Given the description of an element on the screen output the (x, y) to click on. 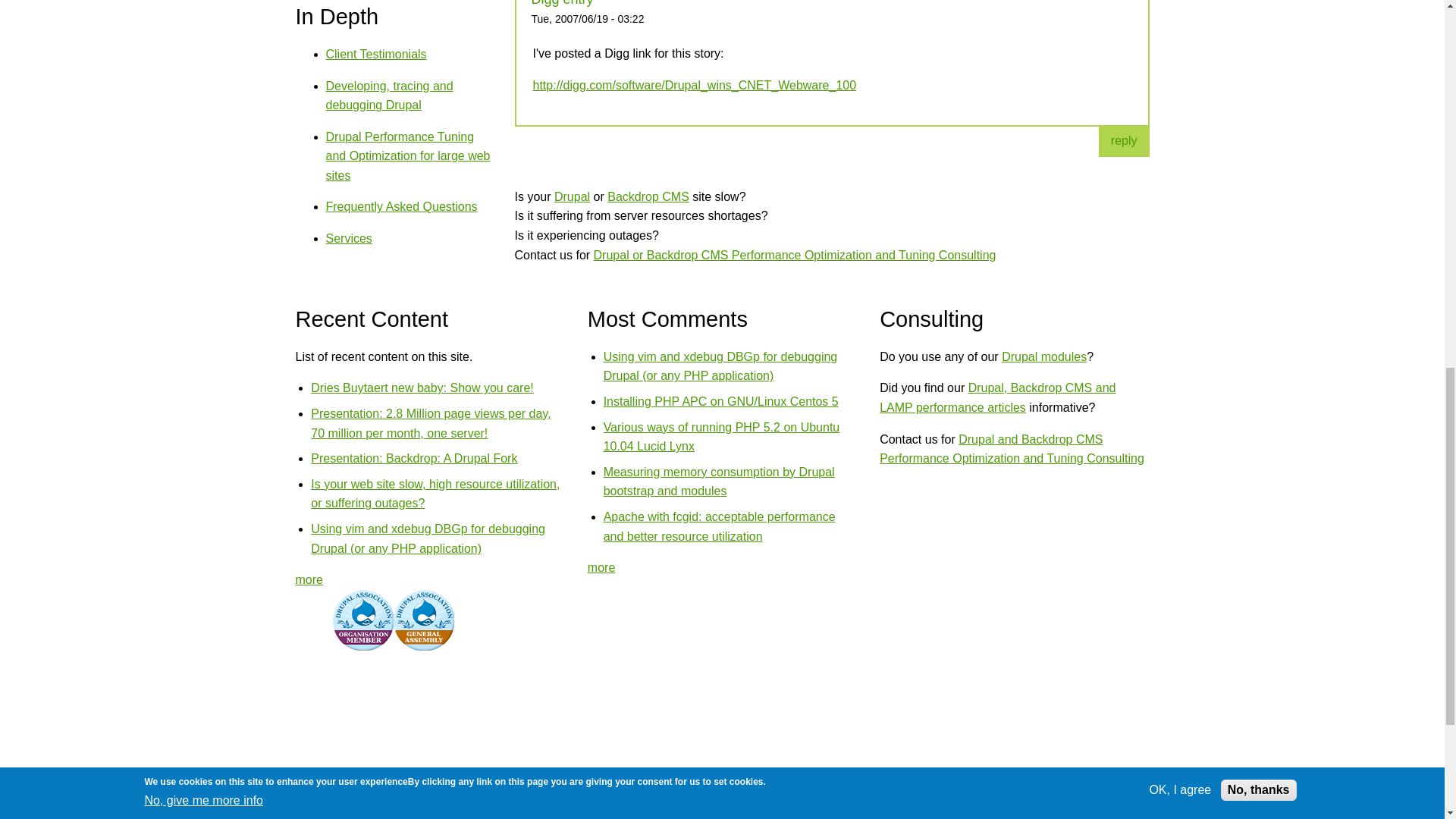
Backdrop CMS (647, 196)
Frequently Asked Questions (401, 205)
Drupal (571, 196)
Client Testimonials (376, 53)
Digg entry (561, 3)
Developing, tracing and debugging Drupal (389, 94)
Services (349, 237)
Dries Buytaert new baby: Show you care! (421, 387)
Presentation: Backdrop: A Drupal Fork (413, 458)
more (309, 579)
reply (1123, 140)
